Given the description of an element on the screen output the (x, y) to click on. 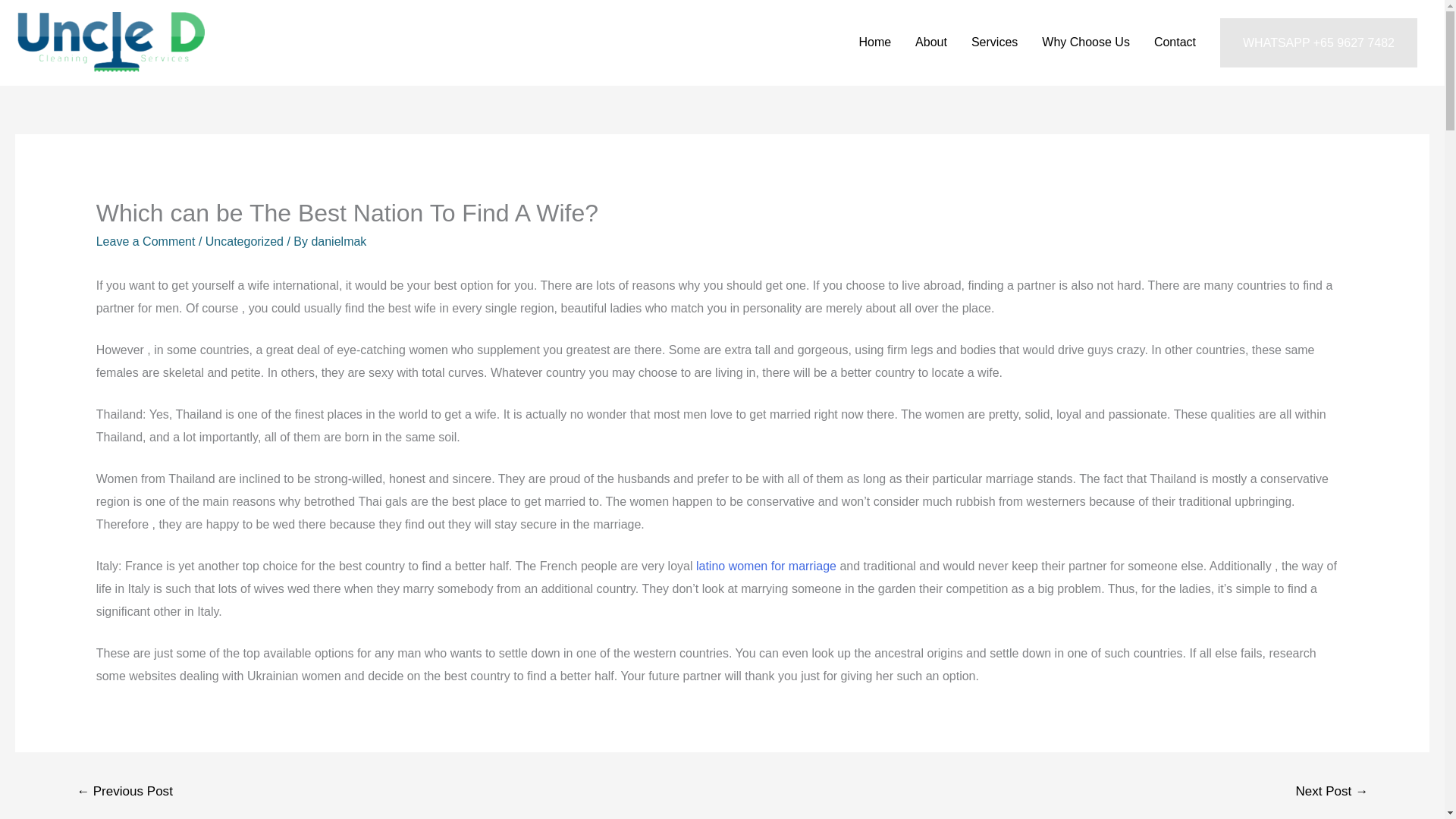
latino women for marriage (765, 565)
Leave a Comment (145, 241)
About (930, 42)
View all posts by danielmak (338, 241)
Uncategorized (244, 241)
Why Choose Us (1085, 42)
Services (994, 42)
danielmak (338, 241)
Contact (1174, 42)
Home (873, 42)
